Given the description of an element on the screen output the (x, y) to click on. 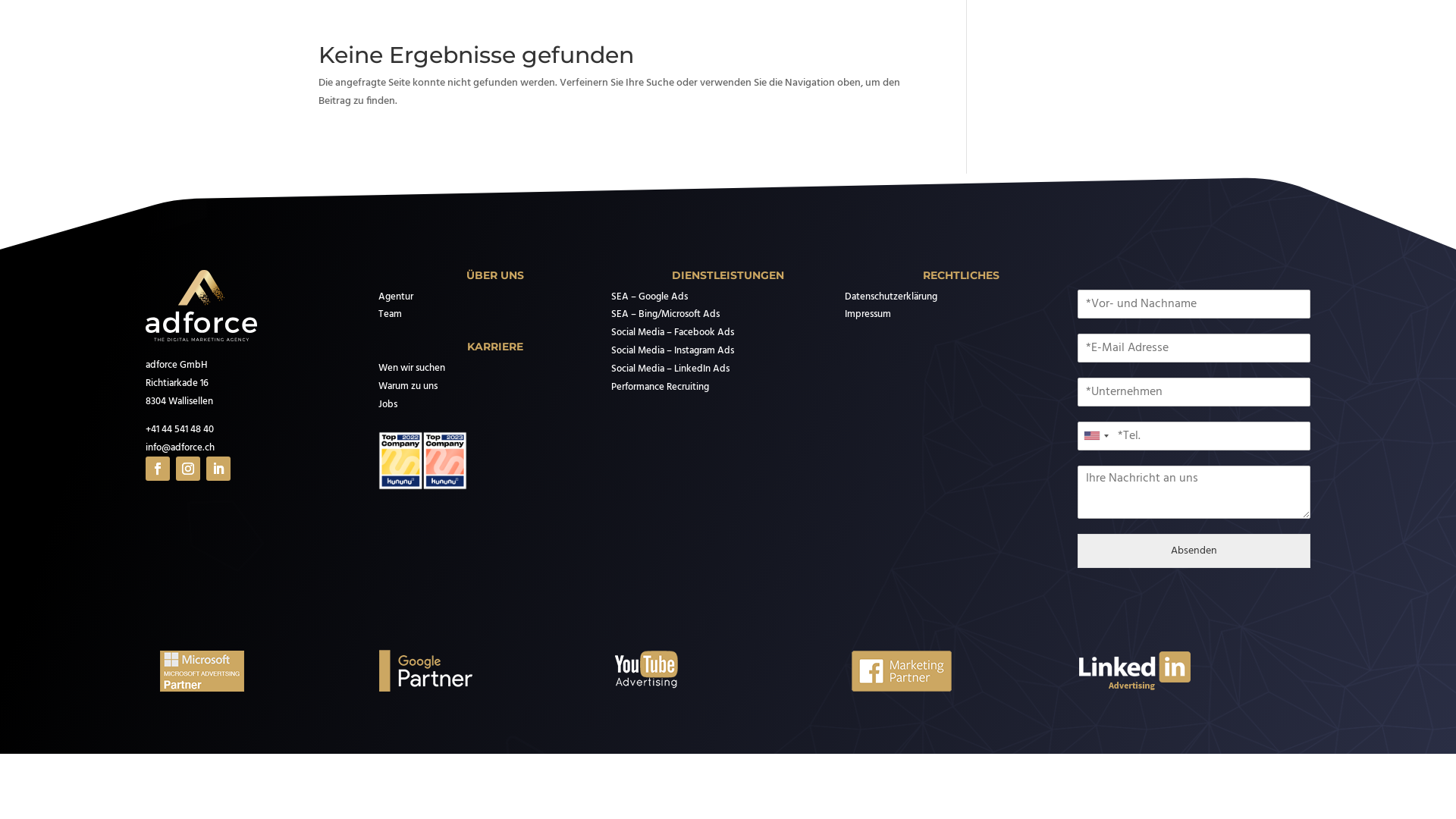
Impressum Element type: text (867, 314)
Team Element type: text (389, 314)
youtube ads logo Element type: hover (667, 670)
Folge auf Facebook Element type: hover (157, 468)
facebook ads logo Element type: hover (901, 670)
info@adforce.ch Element type: text (179, 448)
adforce logo Element type: hover (201, 305)
Jobs Element type: text (387, 404)
Folge auf LinkedIn Element type: hover (218, 468)
Performance Recruiting Element type: text (660, 387)
United States: +1 Element type: hover (1095, 435)
Folge auf Instagram Element type: hover (187, 468)
linkedin ads logo Element type: hover (1134, 670)
top_company_2022-2023 Element type: hover (422, 460)
Absenden Element type: text (1193, 550)
Agentur Element type: text (395, 297)
+41 44 541 48 40 Element type: text (179, 429)
Warum zu uns Element type: text (407, 386)
Wen wir suchen Element type: text (411, 368)
microsoft ads partner1 Element type: hover (202, 670)
google ads partner logo Element type: hover (435, 670)
